Given the description of an element on the screen output the (x, y) to click on. 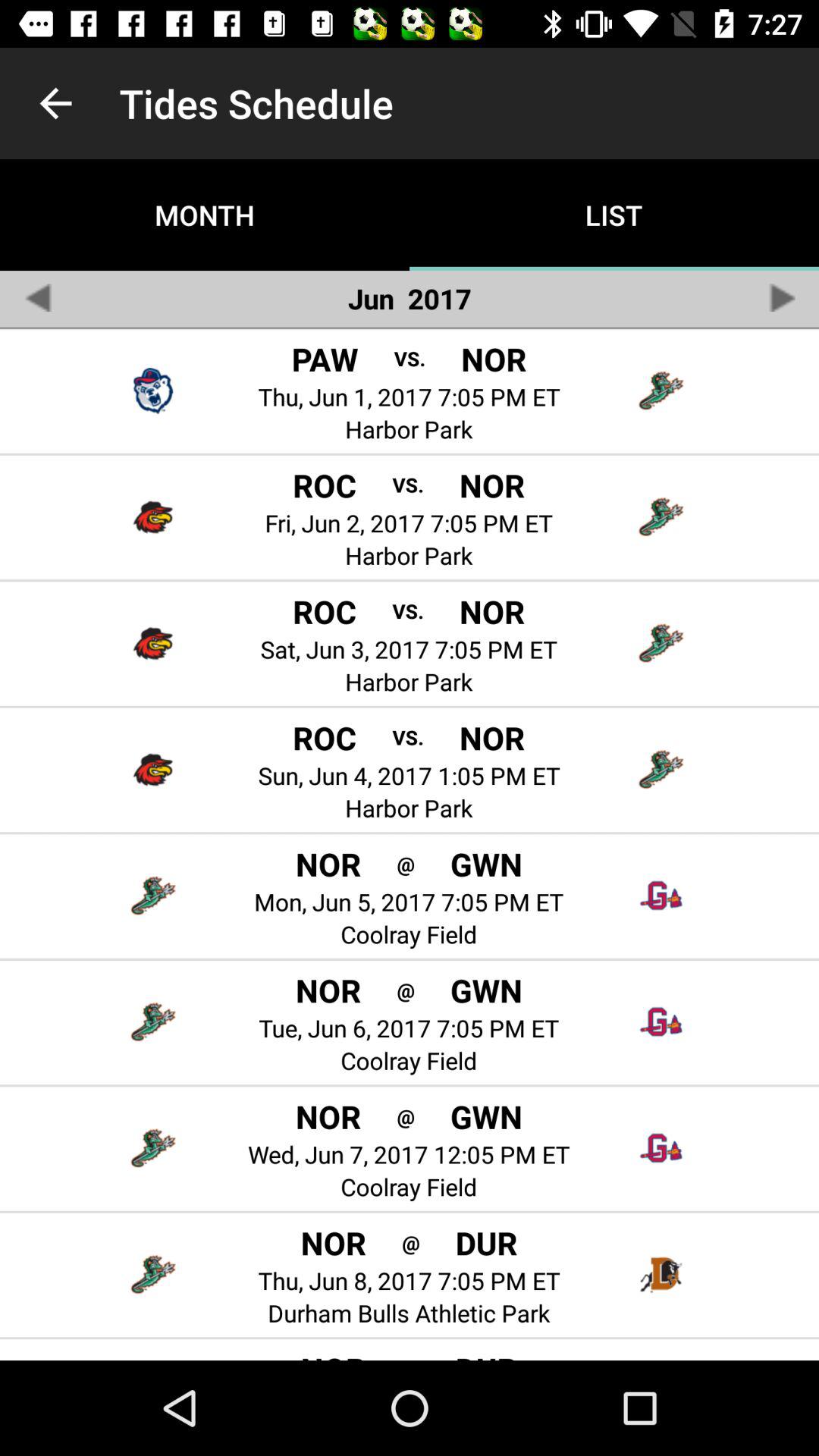
select the icon to the left of the tides schedule (55, 103)
